Given the description of an element on the screen output the (x, y) to click on. 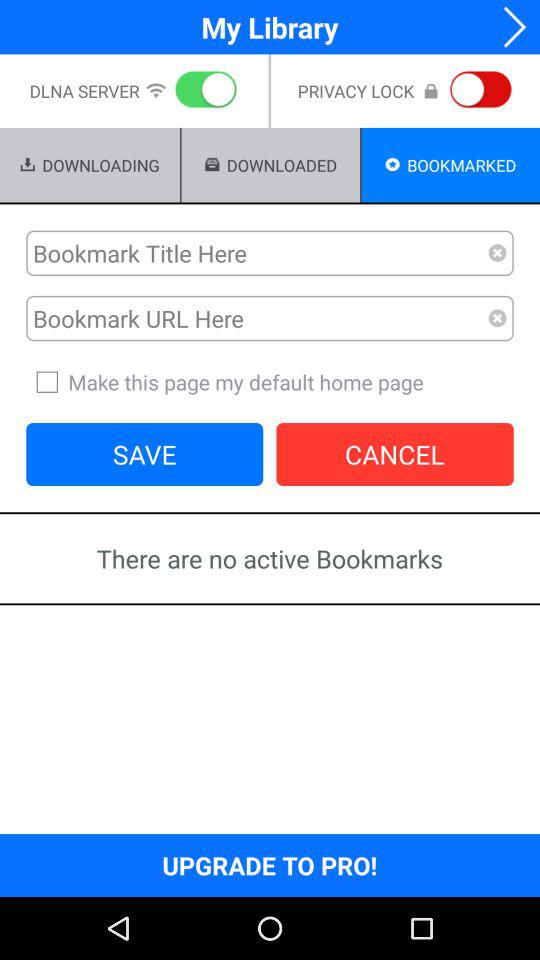
remove this search criteria (497, 253)
